Given the description of an element on the screen output the (x, y) to click on. 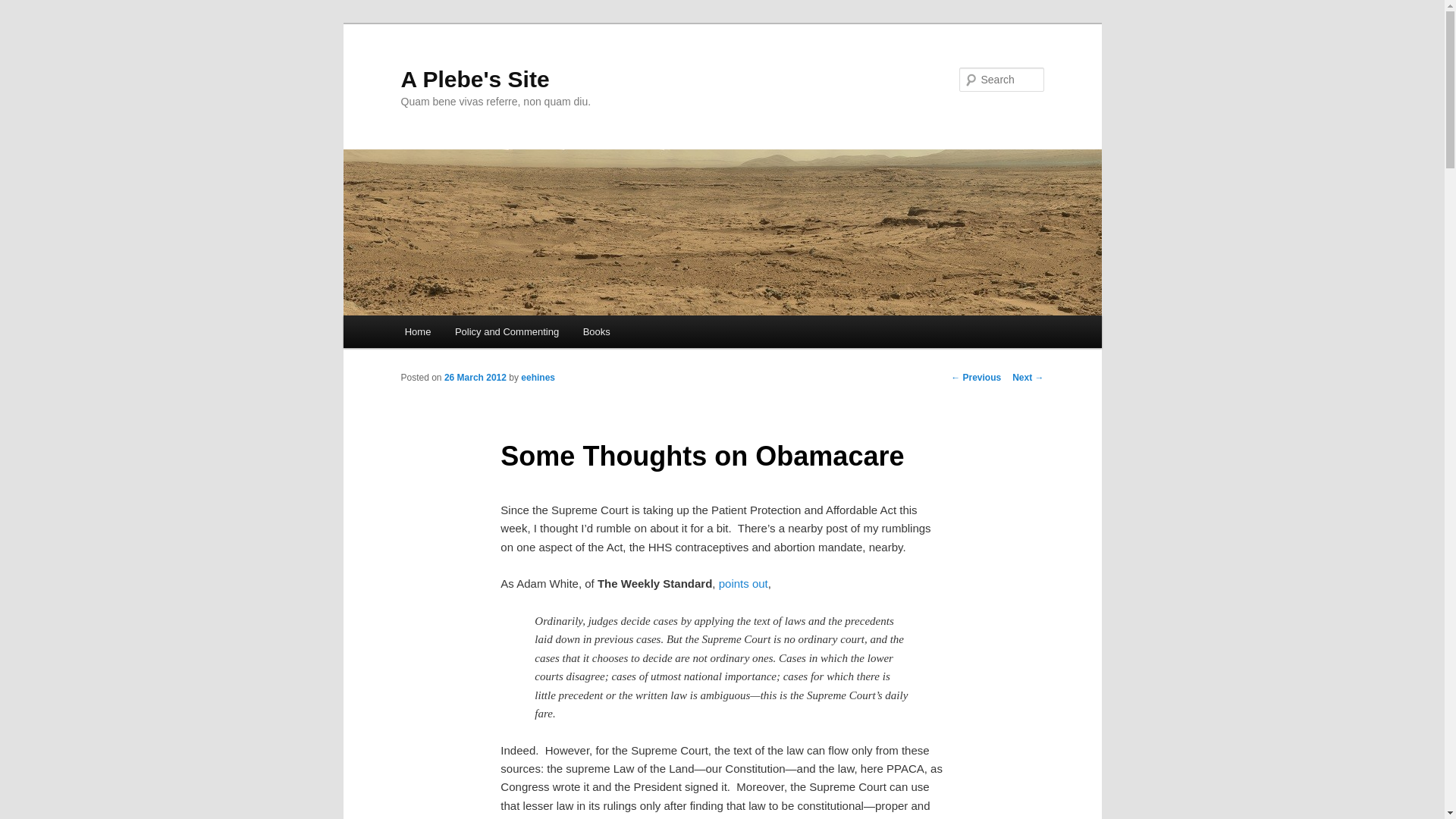
Home (417, 331)
Search (24, 8)
Policy and Commenting (506, 331)
eehines (537, 377)
Books (596, 331)
View all posts by eehines (537, 377)
points out (743, 583)
07:06 (475, 377)
A Plebe's Site (474, 78)
